Given the description of an element on the screen output the (x, y) to click on. 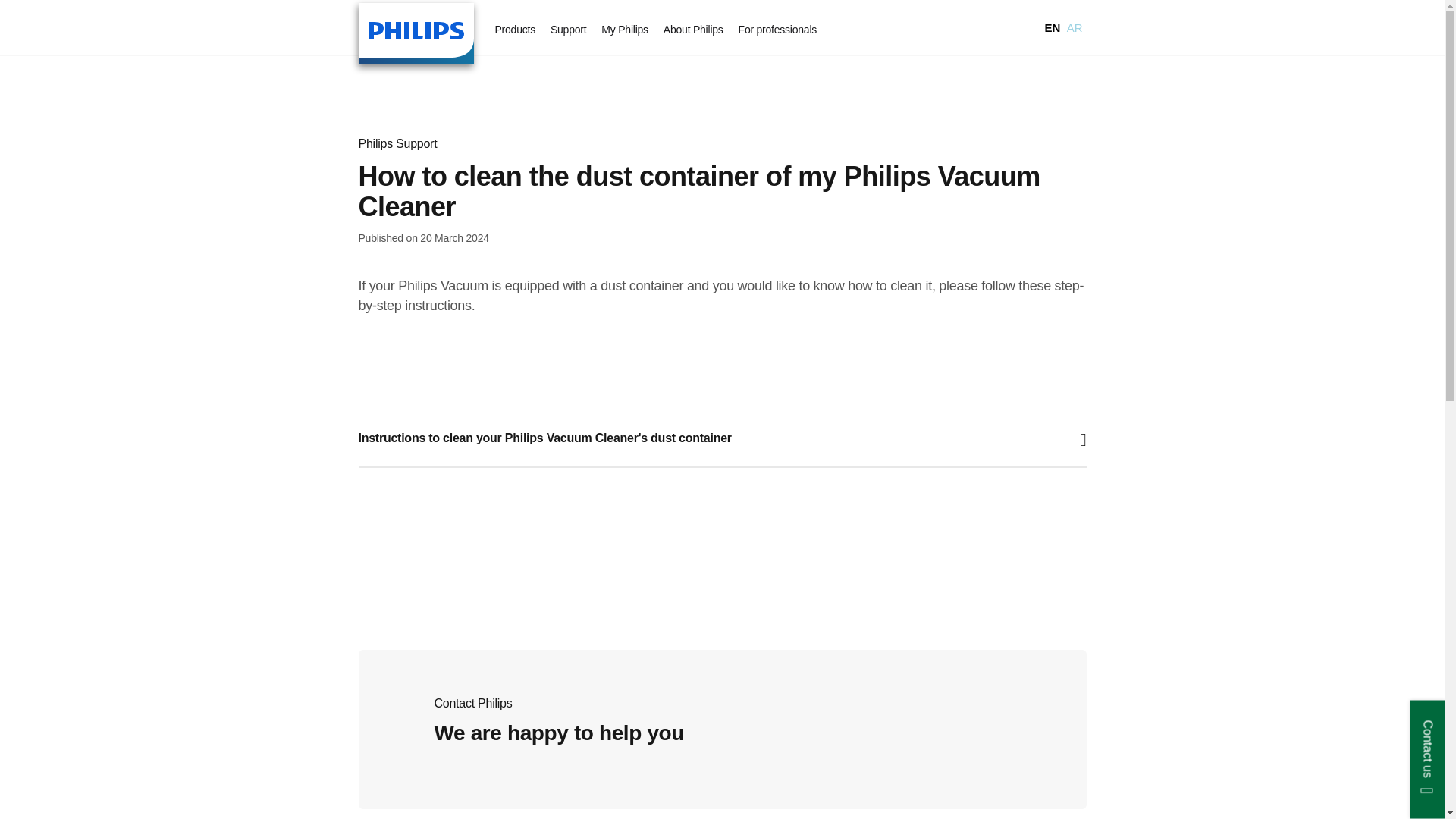
Products (513, 29)
Home (415, 33)
